Given the description of an element on the screen output the (x, y) to click on. 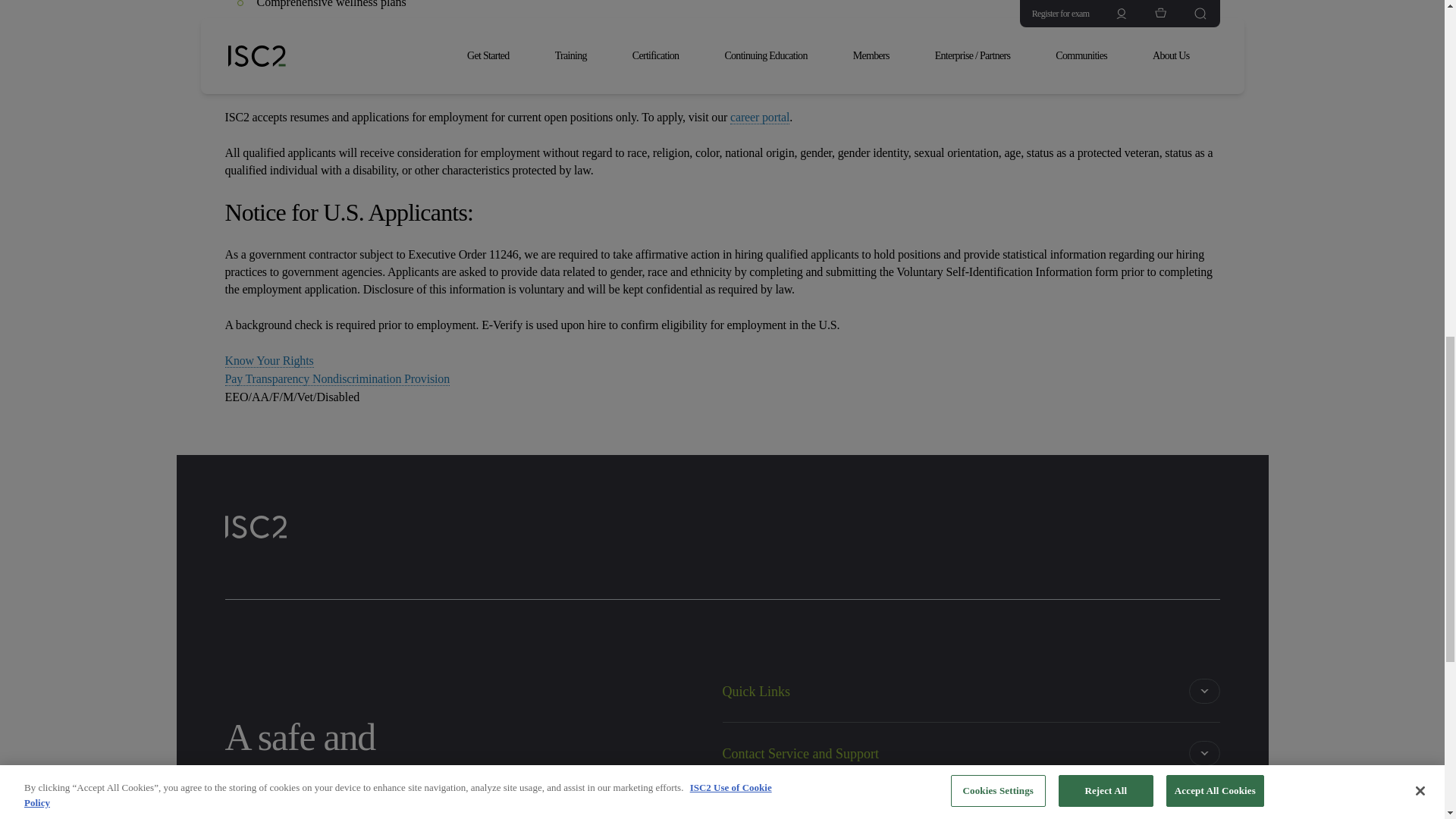
Know Your Rights (268, 360)
Pay Transparency Nondiscrimination Provision (336, 378)
career portal (759, 117)
